Given the description of an element on the screen output the (x, y) to click on. 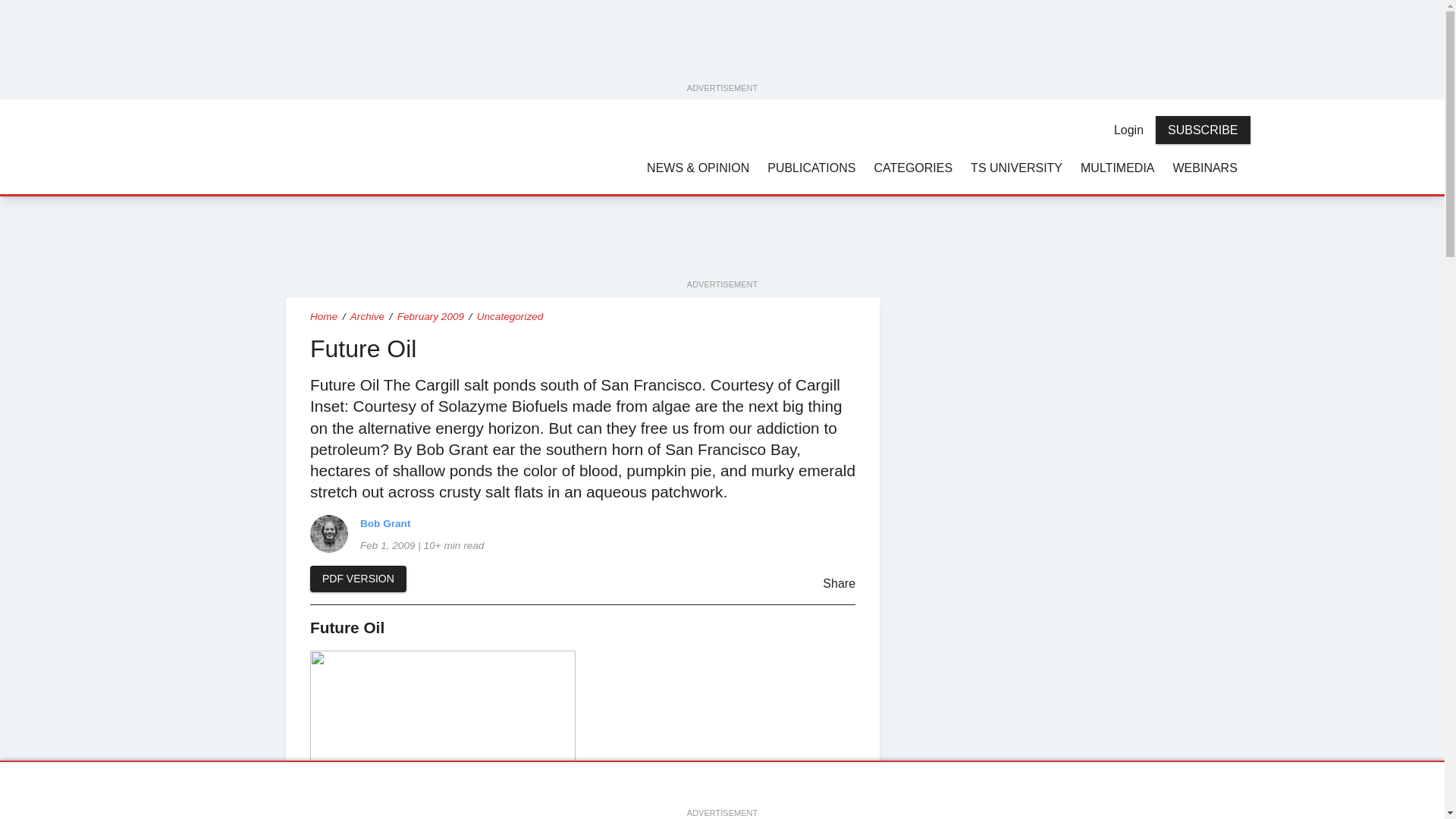
Bob Grant (328, 533)
SUBSCRIBE (1202, 130)
CATEGORIES (912, 167)
TS UNIVERSITY (1015, 167)
Login (1127, 130)
